Given the description of an element on the screen output the (x, y) to click on. 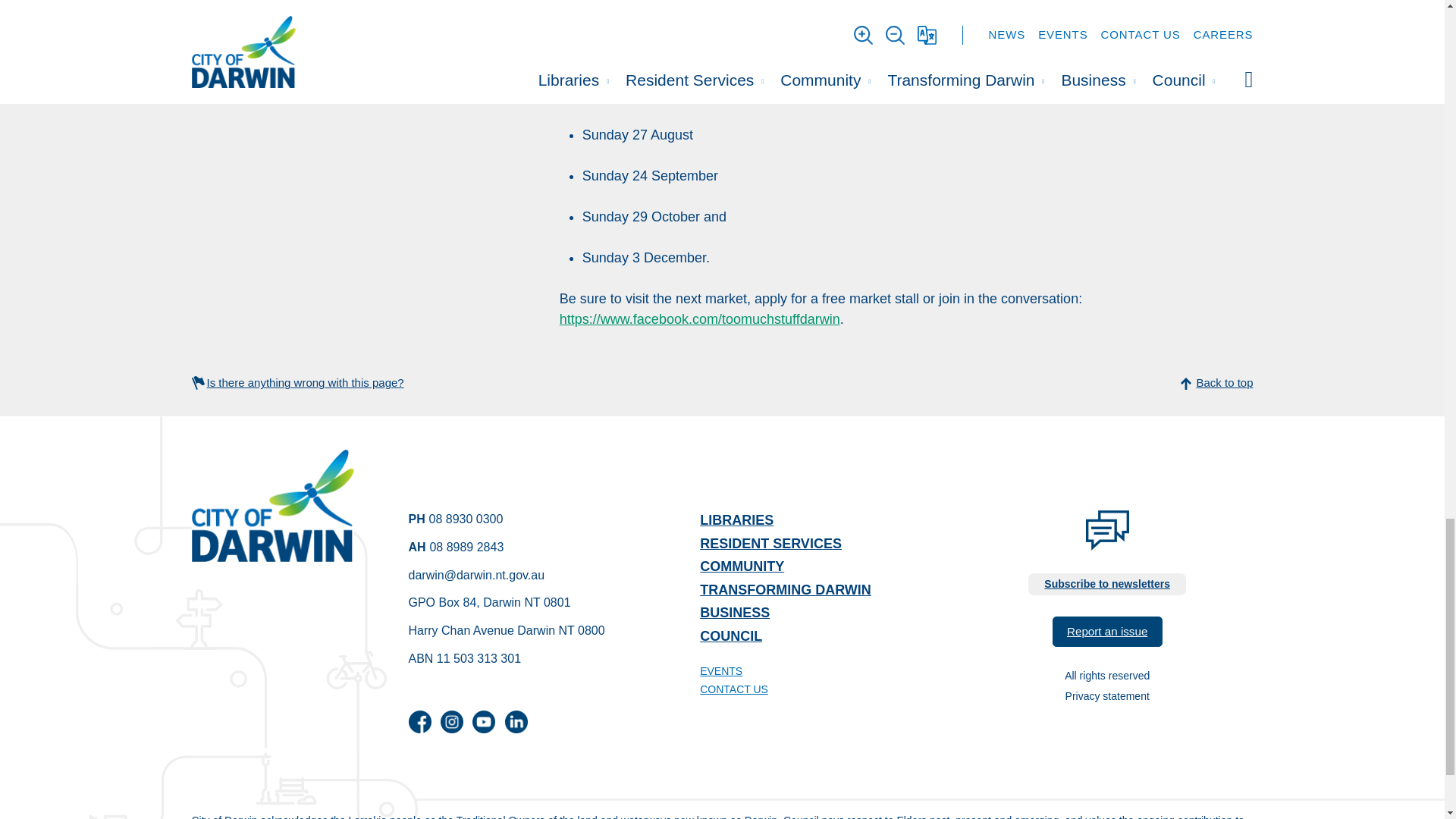
Back to top (721, 383)
